Given the description of an element on the screen output the (x, y) to click on. 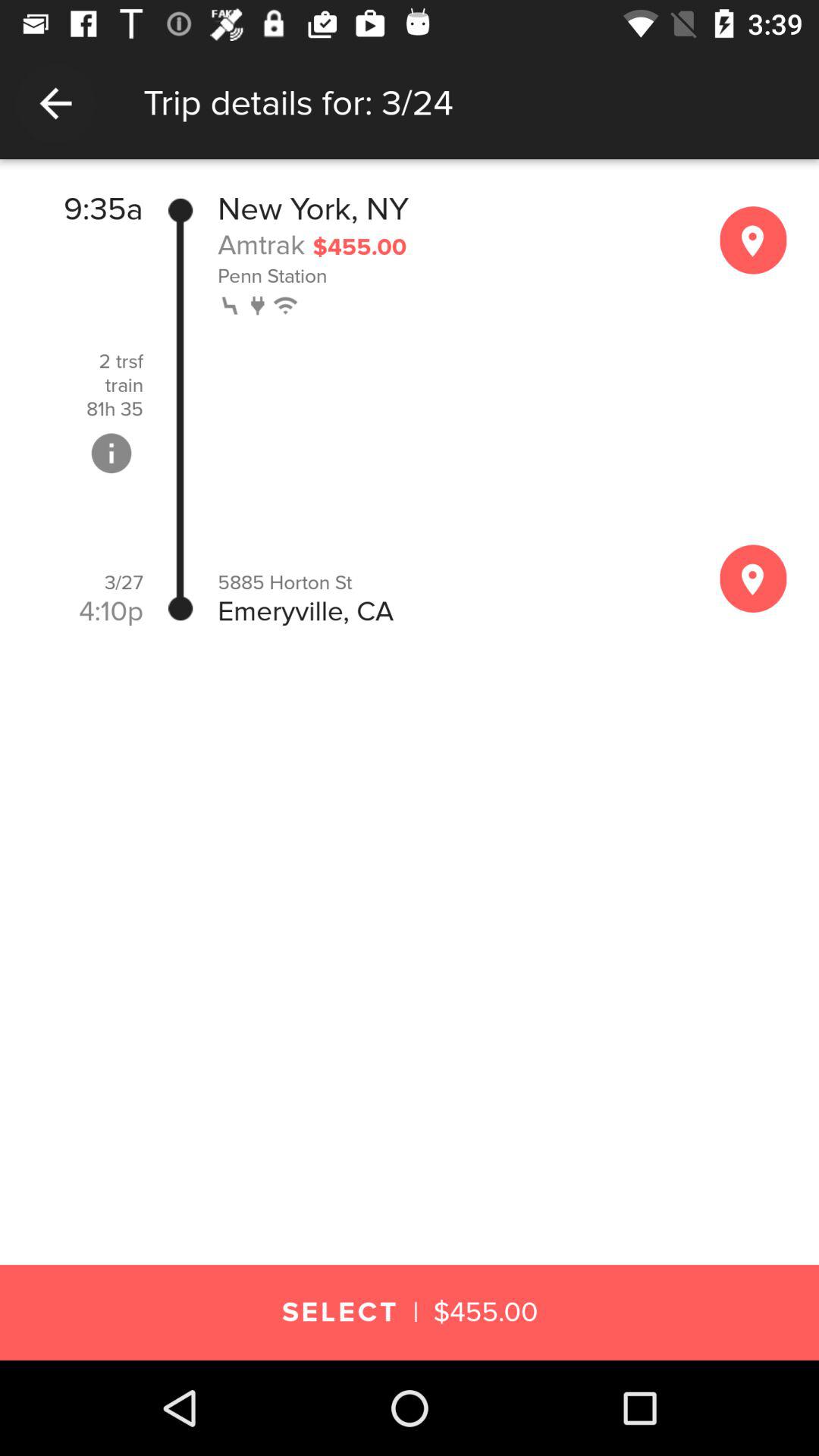
track your location (753, 578)
